Given the description of an element on the screen output the (x, y) to click on. 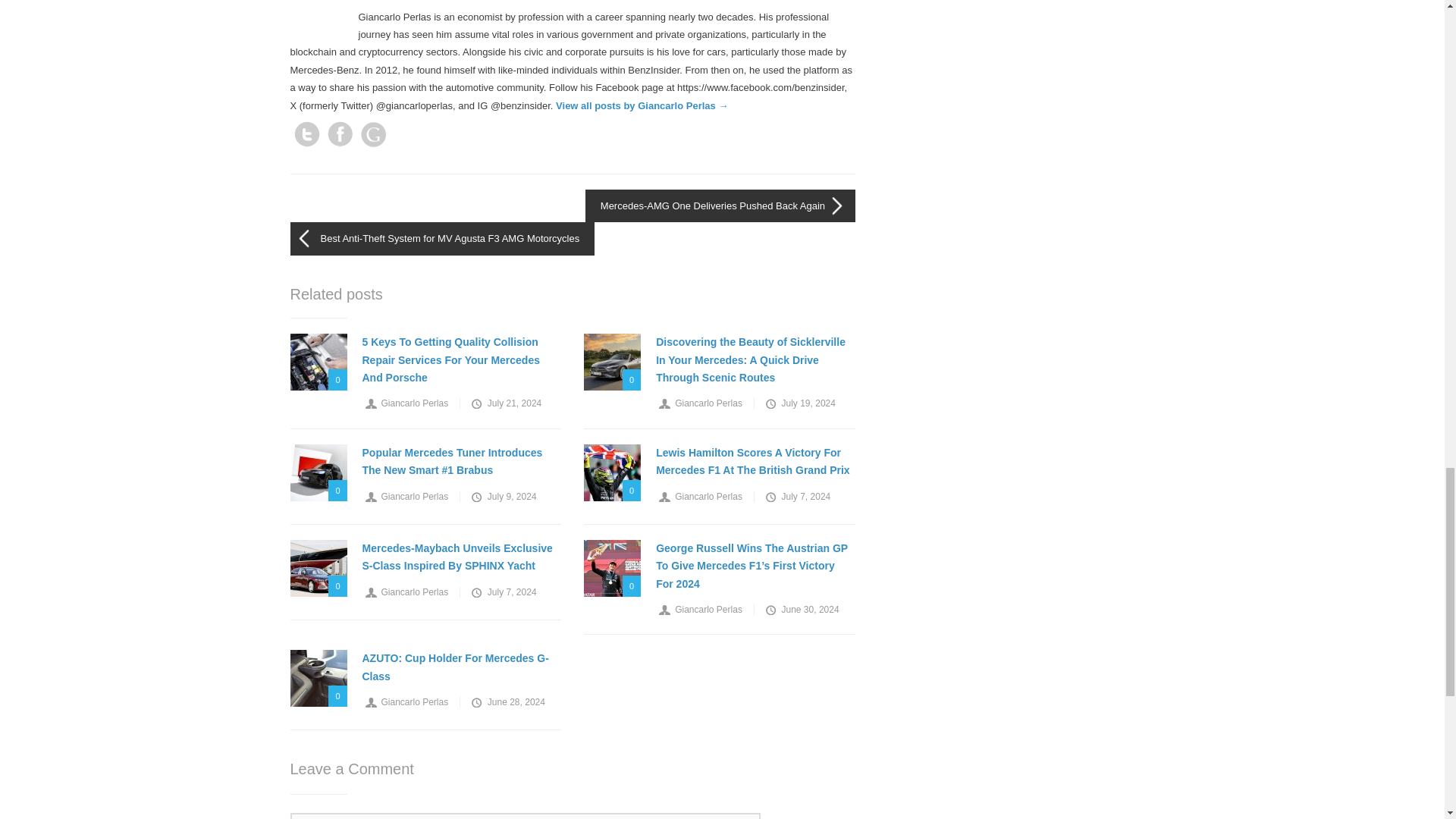
2:39 am (798, 403)
8:30 am (504, 403)
